Given the description of an element on the screen output the (x, y) to click on. 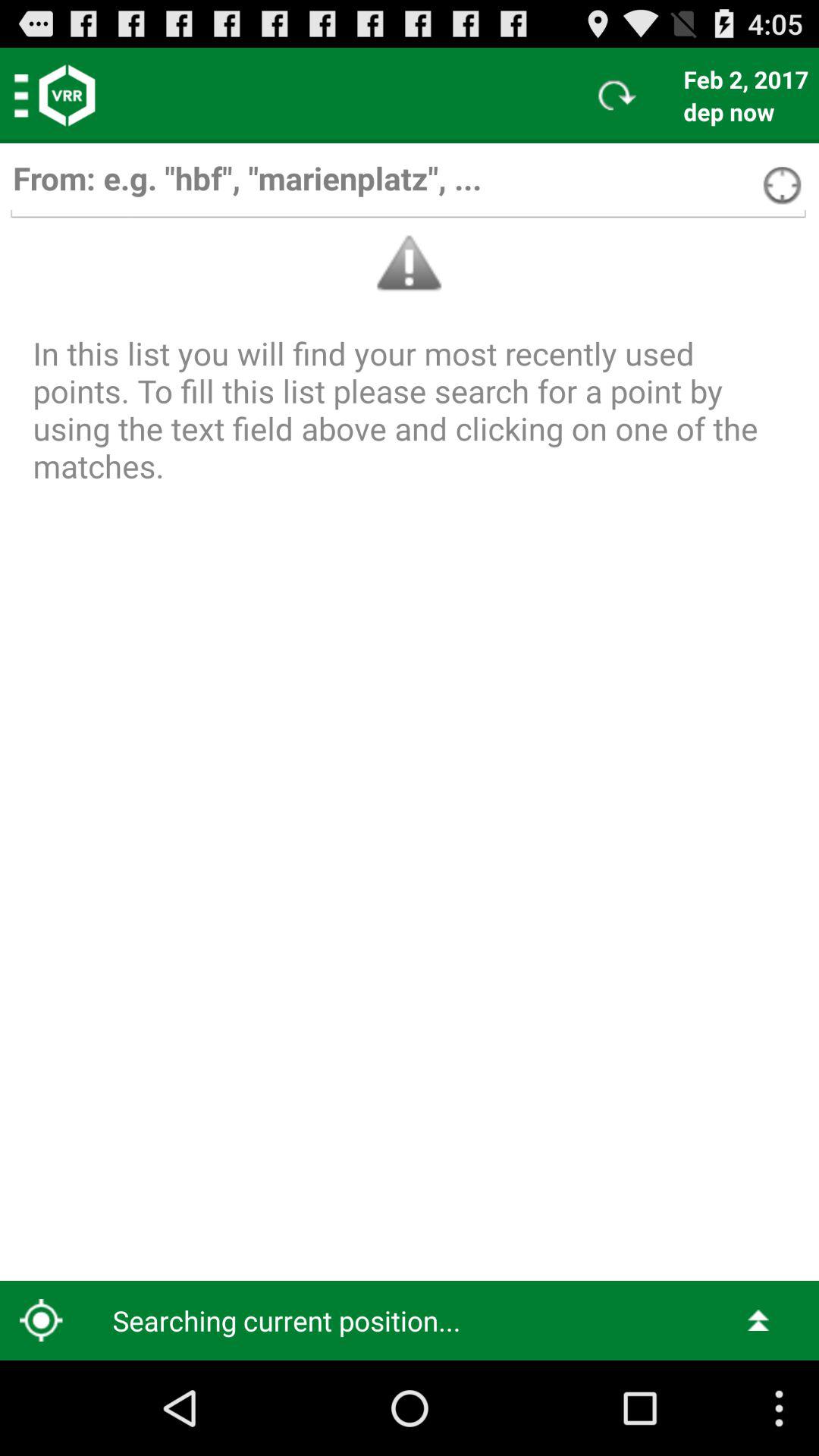
click to enter the search point (407, 185)
